Given the description of an element on the screen output the (x, y) to click on. 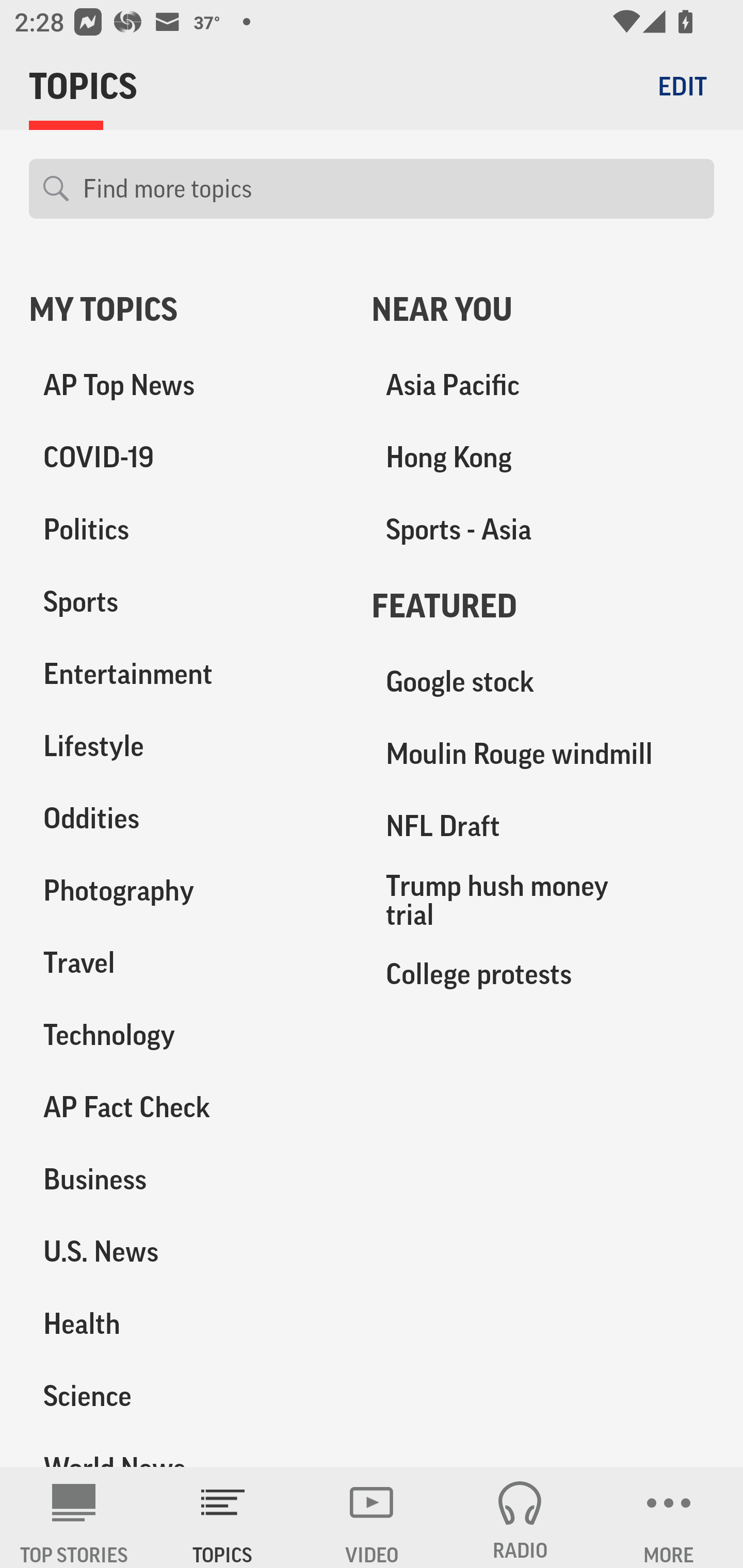
EDIT (682, 86)
Find more topics (391, 188)
AP Top News (185, 385)
Asia Pacific (542, 385)
COVID-19 (185, 457)
Hong Kong (542, 457)
Politics (185, 529)
Sports - Asia (542, 529)
Sports (185, 602)
Entertainment (185, 674)
Google stock (542, 682)
Lifestyle (185, 746)
Moulin Rouge windmill (542, 754)
Oddities (185, 818)
NFL Draft (542, 826)
Photography (185, 890)
Trump hush money trial (542, 899)
Travel (185, 962)
College protests (542, 973)
Technology (185, 1034)
AP Fact Check (185, 1106)
Business (185, 1179)
U.S. News (185, 1251)
Health (185, 1323)
Science (185, 1395)
AP News TOP STORIES (74, 1517)
TOPICS (222, 1517)
VIDEO (371, 1517)
RADIO (519, 1517)
MORE (668, 1517)
